Given the description of an element on the screen output the (x, y) to click on. 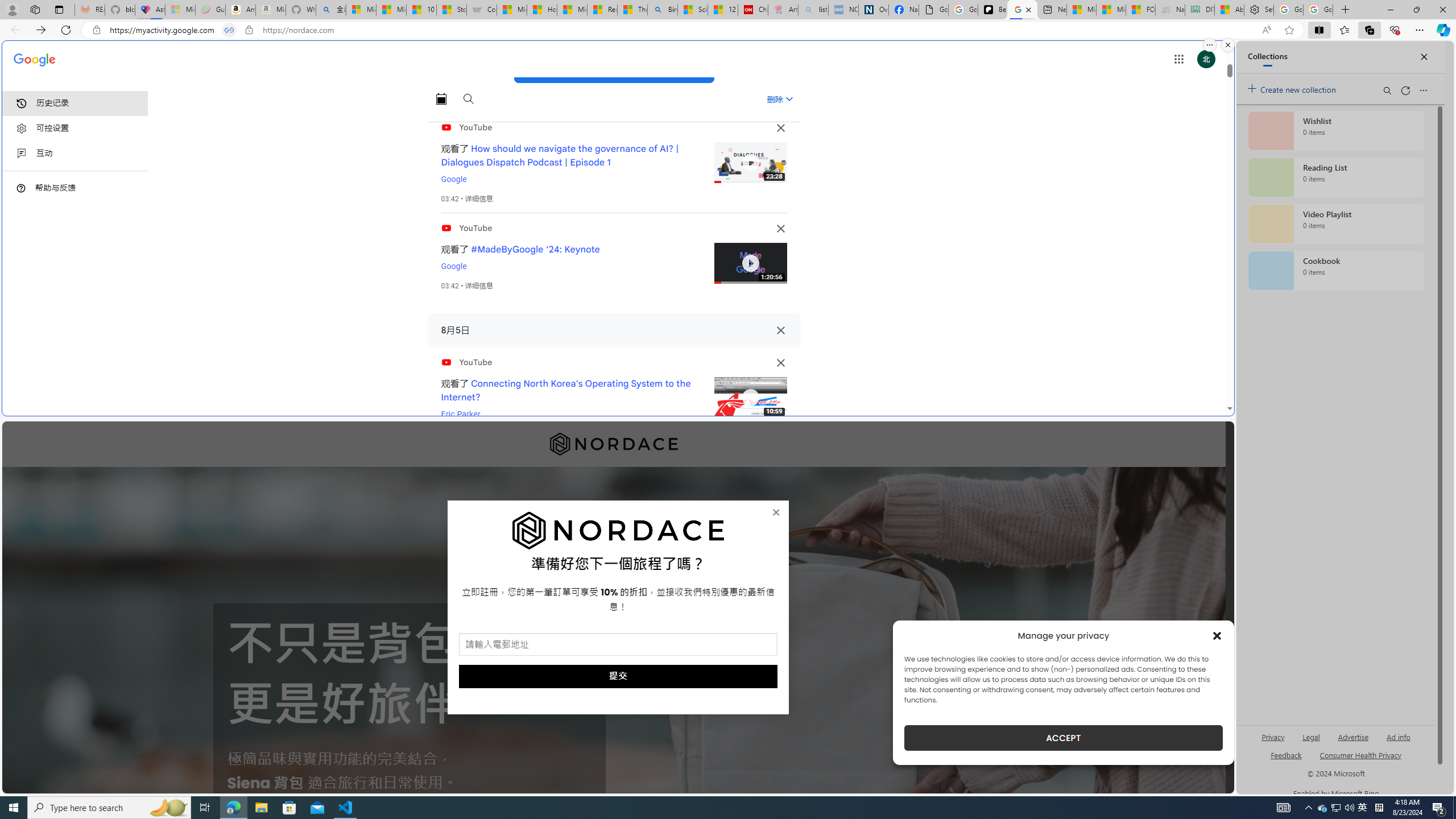
AutomationID: input_5_1 (617, 644)
Arthritis: Ask Health Professionals - Sleeping (782, 9)
Tabs in split screen (228, 29)
Be Smart | creating Science videos | Patreon (991, 9)
Google (454, 266)
Microsoft-Report a Concern to Bing - Sleeping (180, 9)
Science - MSN (691, 9)
